Given the description of an element on the screen output the (x, y) to click on. 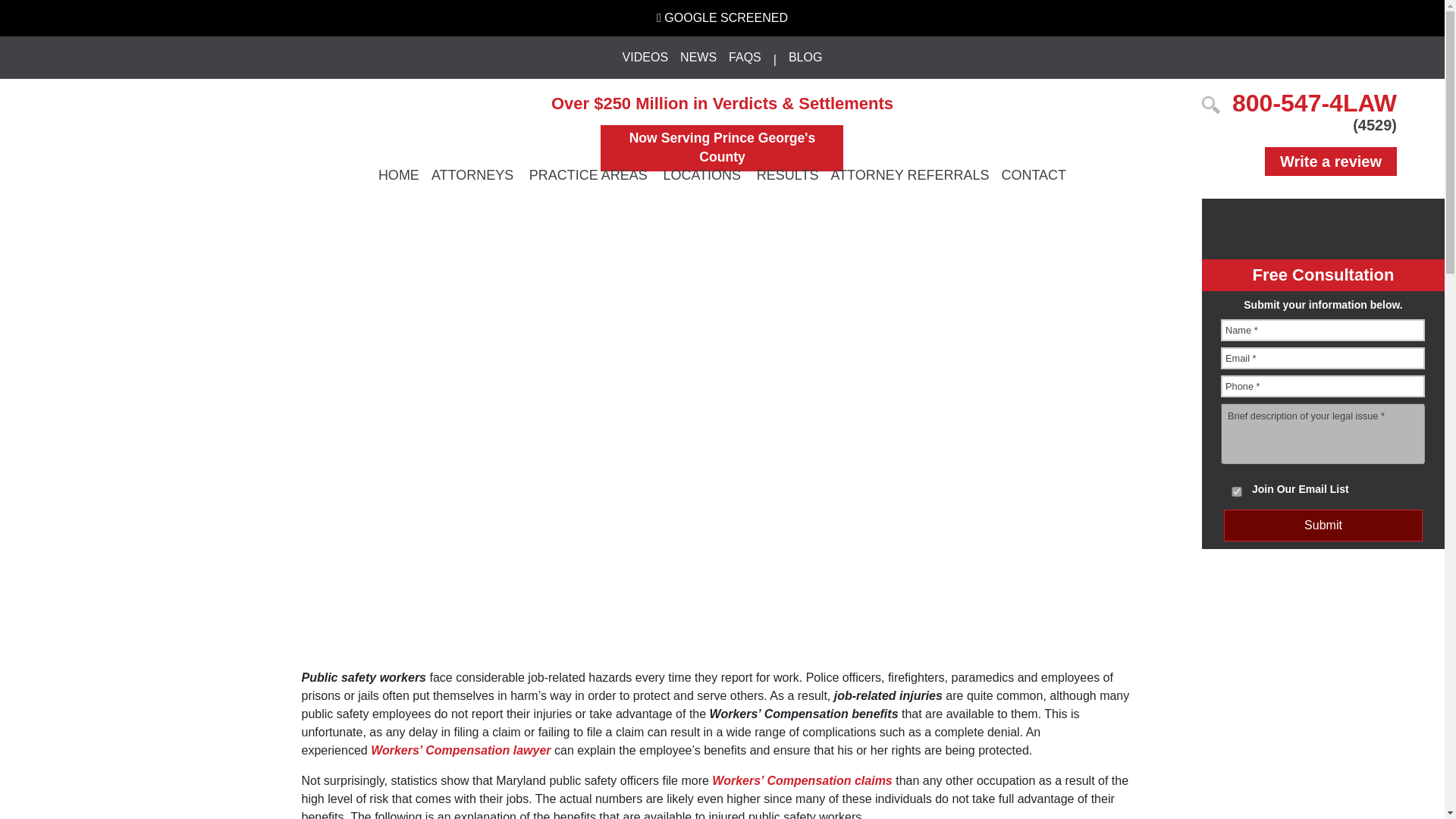
NEWS (698, 57)
BLOG (805, 57)
LOCATIONS (702, 174)
I would like to join your email list. (1236, 491)
800-547-4LAW (1313, 103)
HOME (398, 174)
Submit (1323, 525)
Write a review (1330, 160)
ATTORNEYS (473, 174)
Search (25, 11)
